Given the description of an element on the screen output the (x, y) to click on. 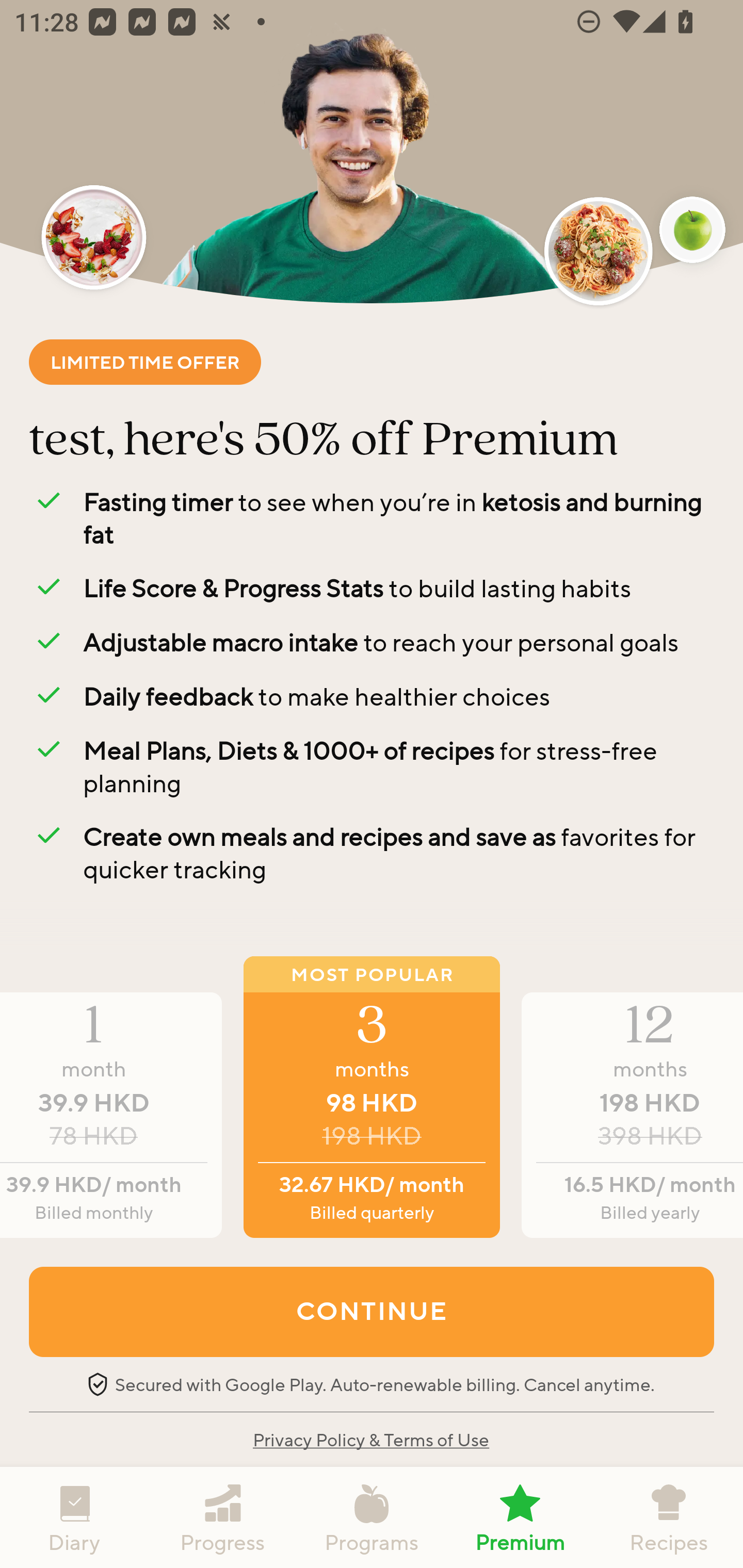
CONTINUE (371, 1311)
Privacy Policy & Terms of Use (370, 1438)
Diary (74, 1517)
Progress (222, 1517)
Programs (371, 1517)
Recipes (668, 1517)
